Given the description of an element on the screen output the (x, y) to click on. 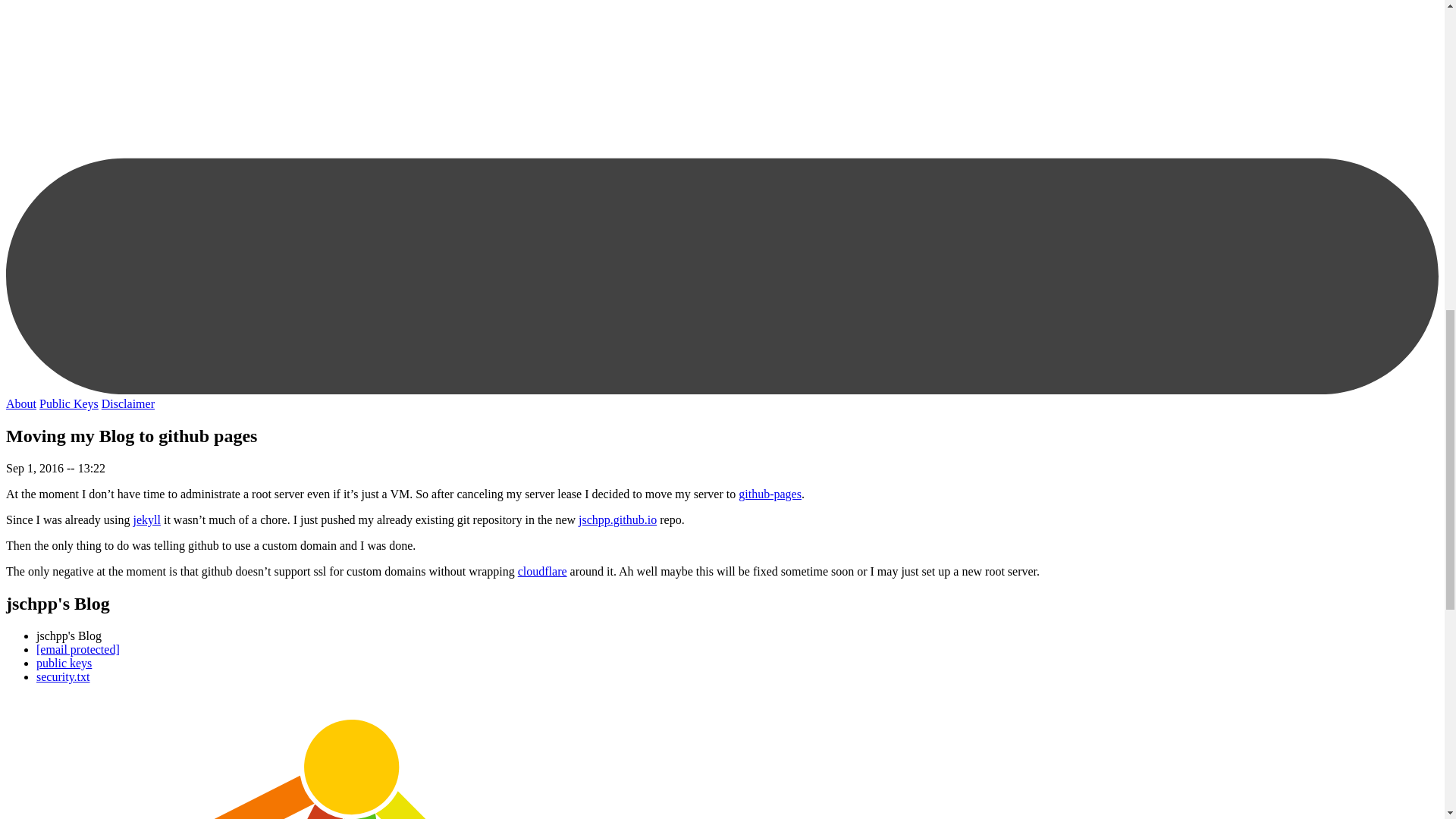
jekyll (146, 519)
jschpp.github.io (617, 519)
Disclaimer (127, 403)
security.txt (63, 676)
About (20, 403)
public keys (63, 662)
cloudflare (542, 571)
Public Keys (69, 403)
github-pages (770, 493)
